Given the description of an element on the screen output the (x, y) to click on. 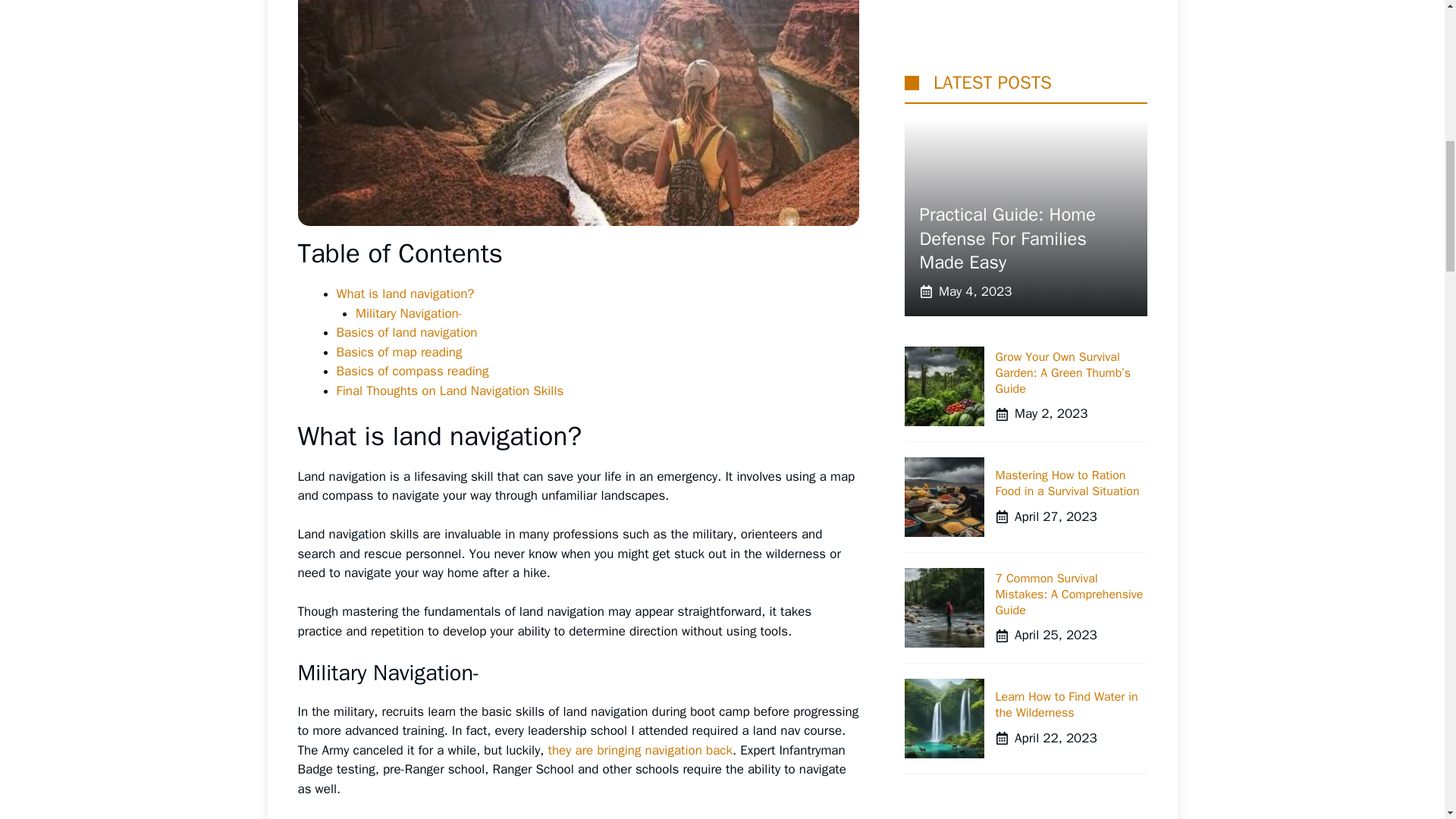
What is land navigation? (405, 293)
Basics of compass reading (412, 371)
they are bringing navigation back (640, 750)
Military Navigation- (409, 313)
Final Thoughts on Land Navigation Skills (450, 390)
Basics of land navigation (406, 332)
Mastering How to Ration Food in a Survival Situation (1066, 64)
7 Common Survival Mistakes: A Comprehensive Guide (1068, 175)
Scroll back to top (1406, 720)
land navigation (578, 113)
Basics of map reading (399, 351)
